Given the description of an element on the screen output the (x, y) to click on. 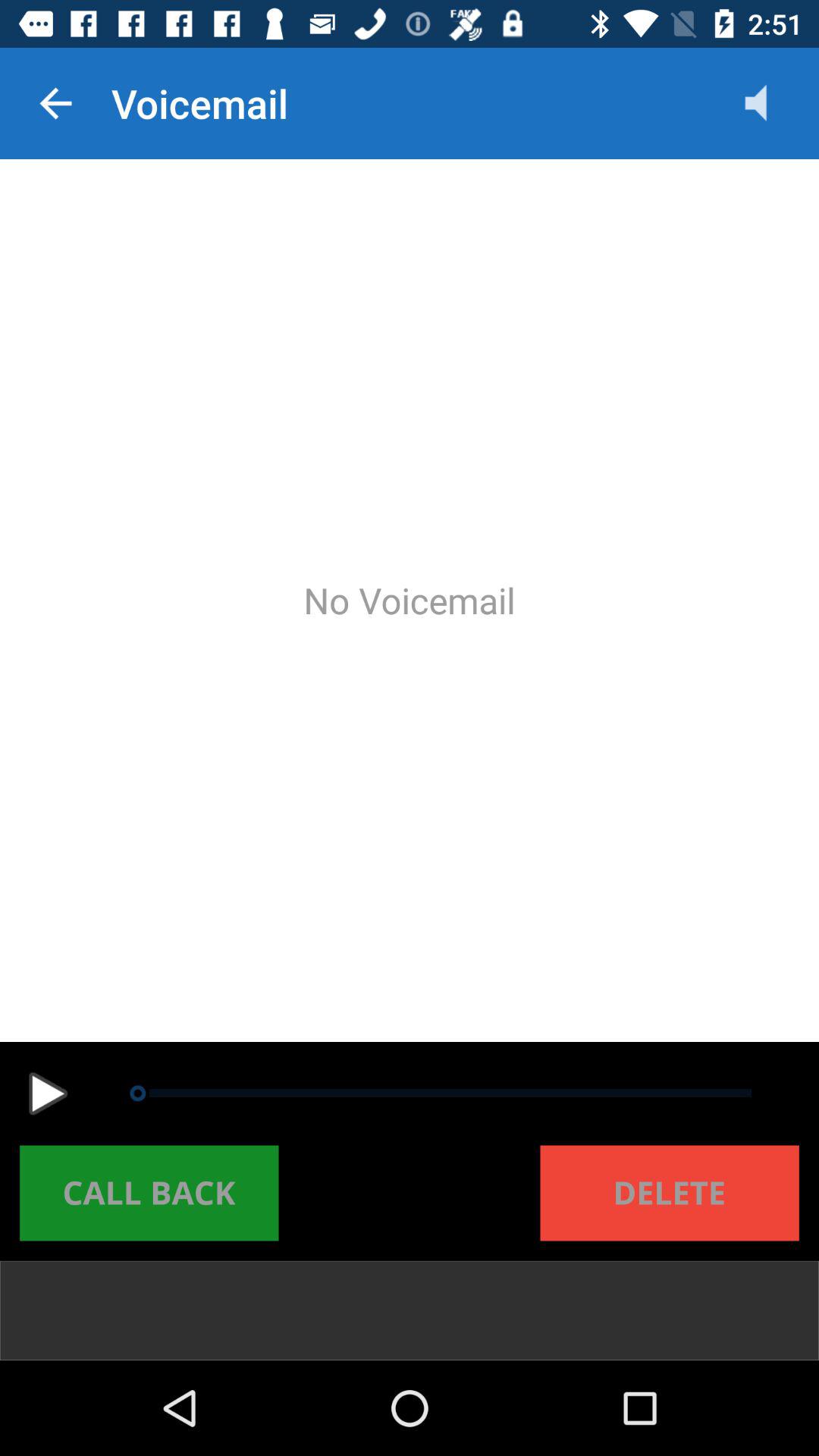
scroll until delete item (669, 1193)
